Given the description of an element on the screen output the (x, y) to click on. 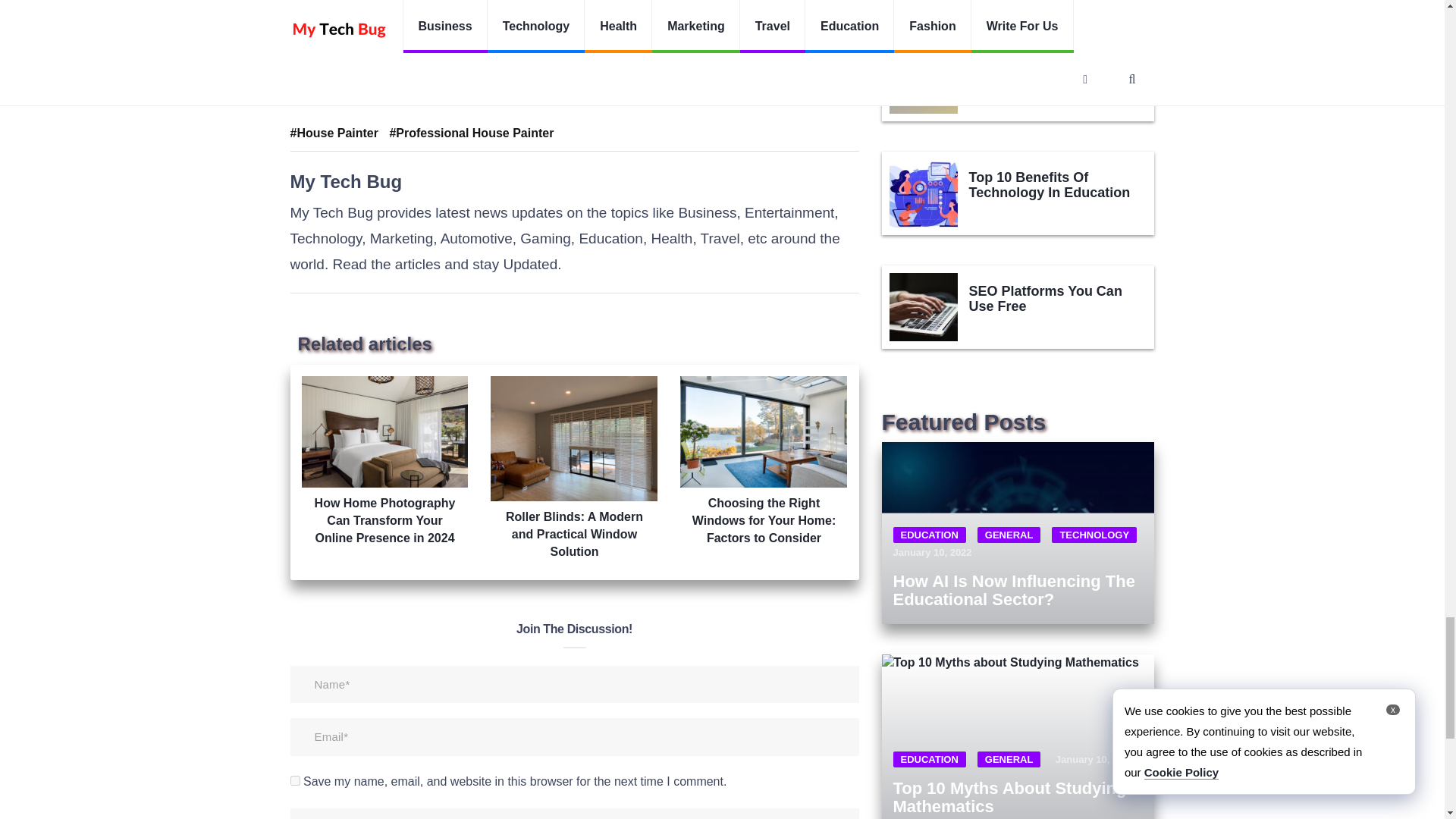
Roller Blinds: A Modern and Practical Window Solution (574, 468)
LinkedIn (476, 83)
yes (294, 780)
Facebook (395, 83)
Twitter (319, 83)
Pin It (544, 83)
